Given the description of an element on the screen output the (x, y) to click on. 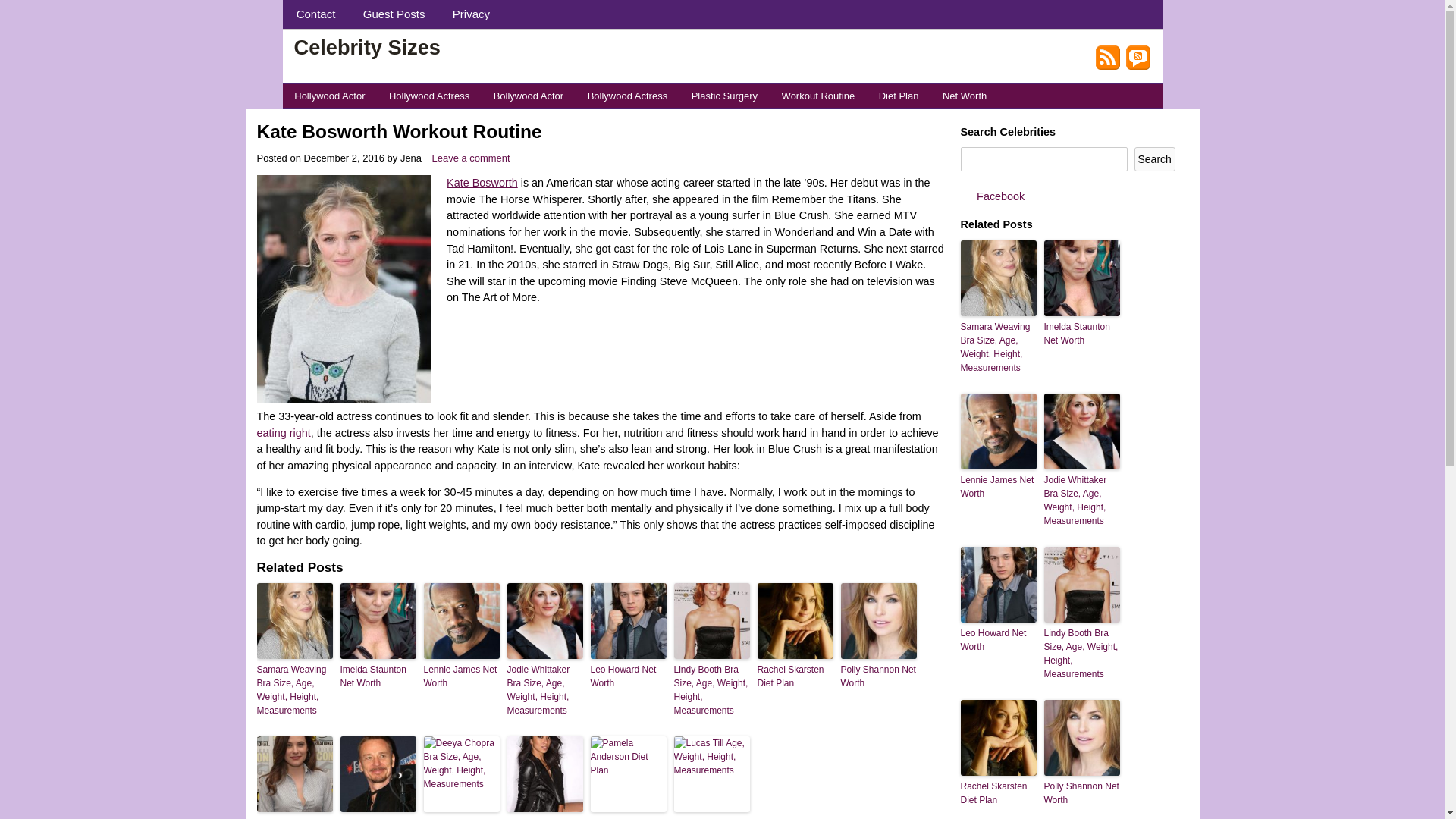
Privacy (471, 14)
Lennie James Net Worth (461, 676)
Samara Weaving Bra Size, Age, Weight, Height, Measurements (293, 689)
Polly Shannon Net Worth (877, 676)
eating right (283, 432)
Guest Posts (394, 14)
Rachel Skarsten Diet Plan (794, 676)
2:05 pm (343, 157)
Bollywood Actor (528, 96)
Celebrity Sizes (367, 46)
